Given the description of an element on the screen output the (x, y) to click on. 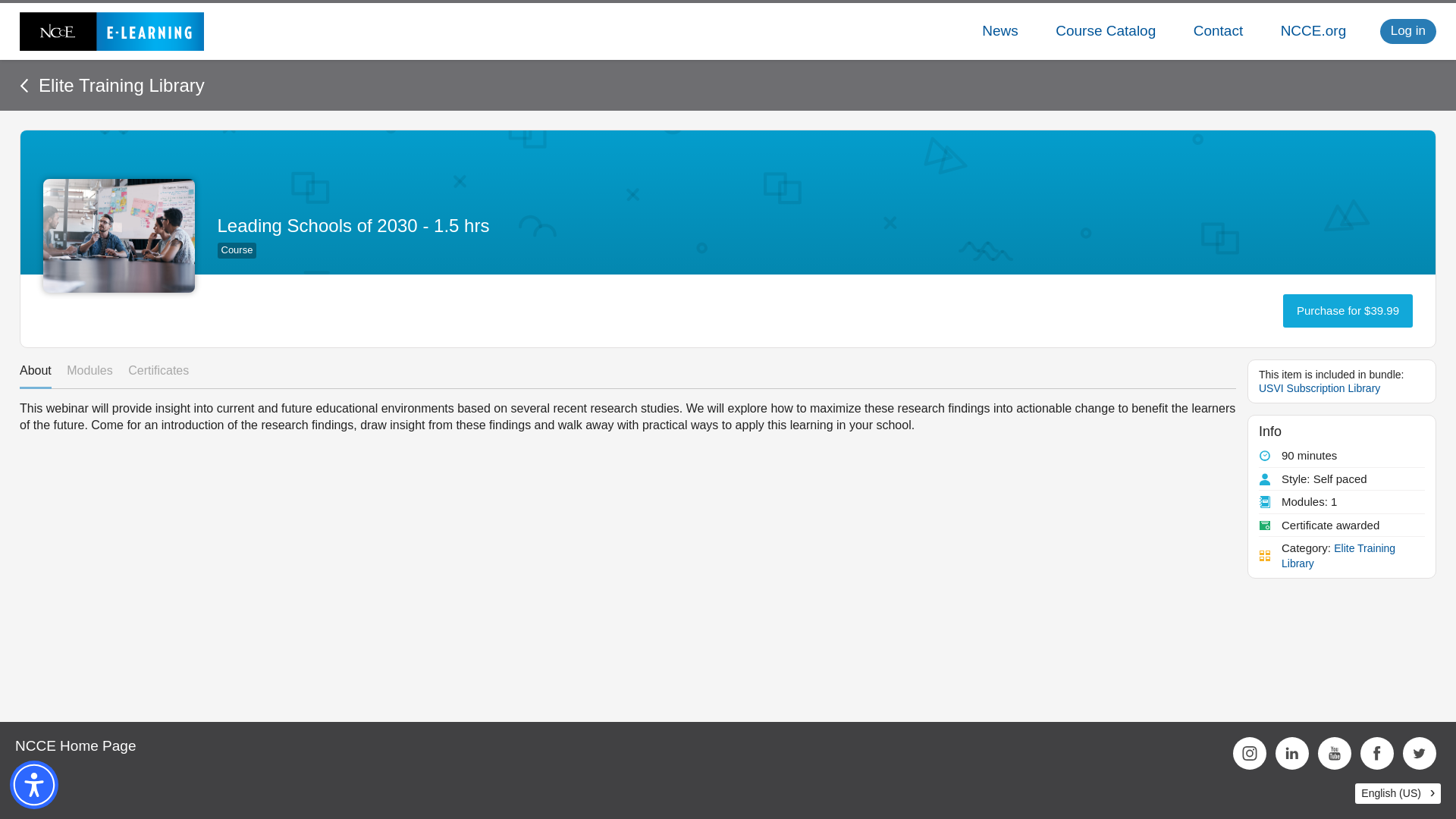
NCCE.org (1313, 31)
News (999, 31)
Twitter (1419, 753)
LinkedIn (1291, 753)
Elite Training Library (1339, 555)
YouTube (1334, 753)
YouTube (1334, 753)
About (35, 371)
Log in (1407, 30)
Accessibility Menu (34, 784)
Contact (1218, 31)
Instagram (1249, 753)
Certificates (158, 371)
Instagram (1249, 753)
Elite Training Library (112, 85)
